Given the description of an element on the screen output the (x, y) to click on. 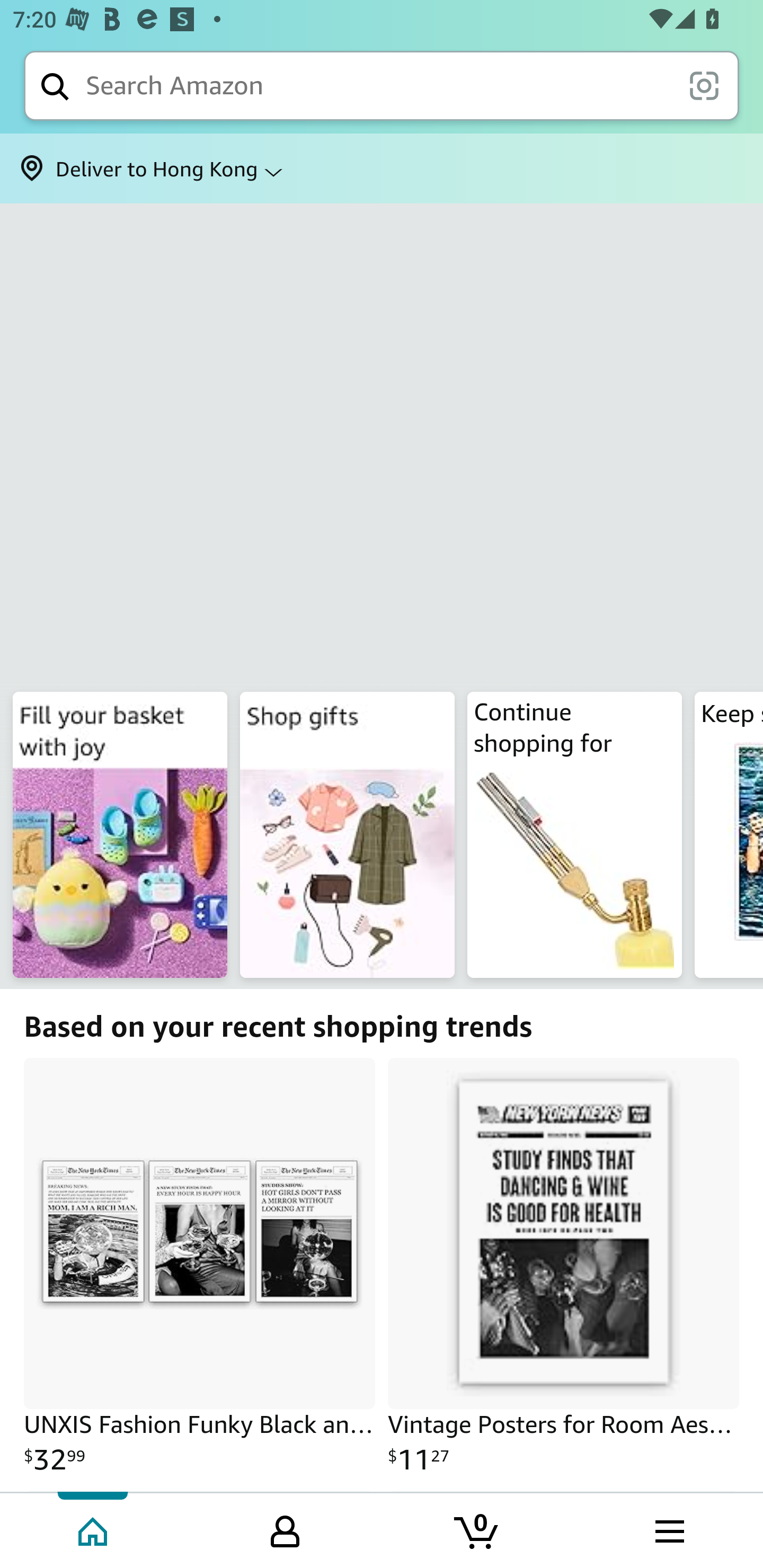
Search Search Search Amazon scan it (381, 85)
scan it (704, 85)
Deliver to Hong Kong ⌵ (381, 168)
Home Tab 1 of 4 (94, 1529)
Your Amazon.com Tab 2 of 4 (285, 1529)
Cart 0 item Tab 3 of 4 0 (477, 1529)
Browse menu Tab 4 of 4 (668, 1529)
